Given the description of an element on the screen output the (x, y) to click on. 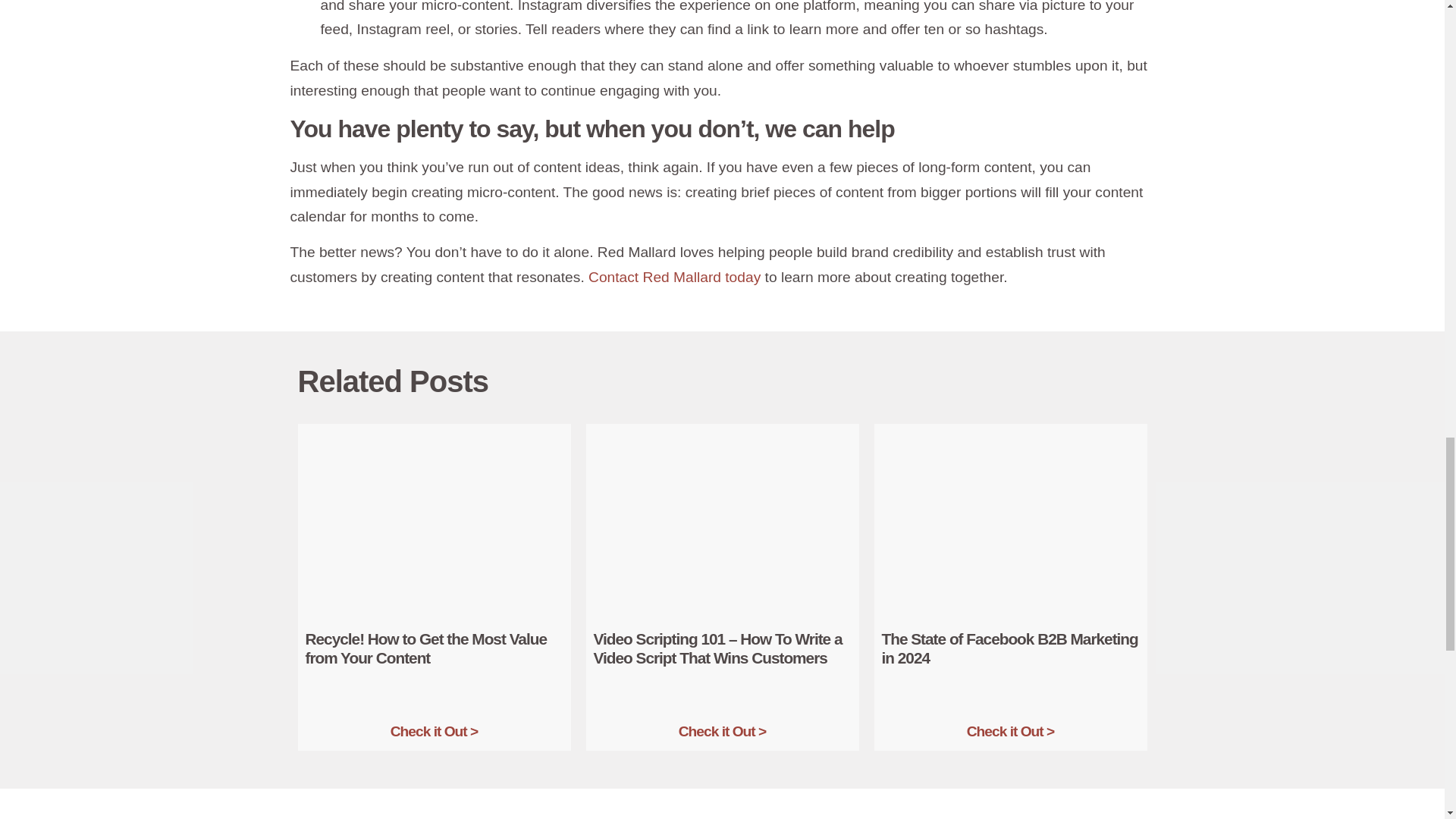
Contact Red Mallard today (674, 277)
